Given the description of an element on the screen output the (x, y) to click on. 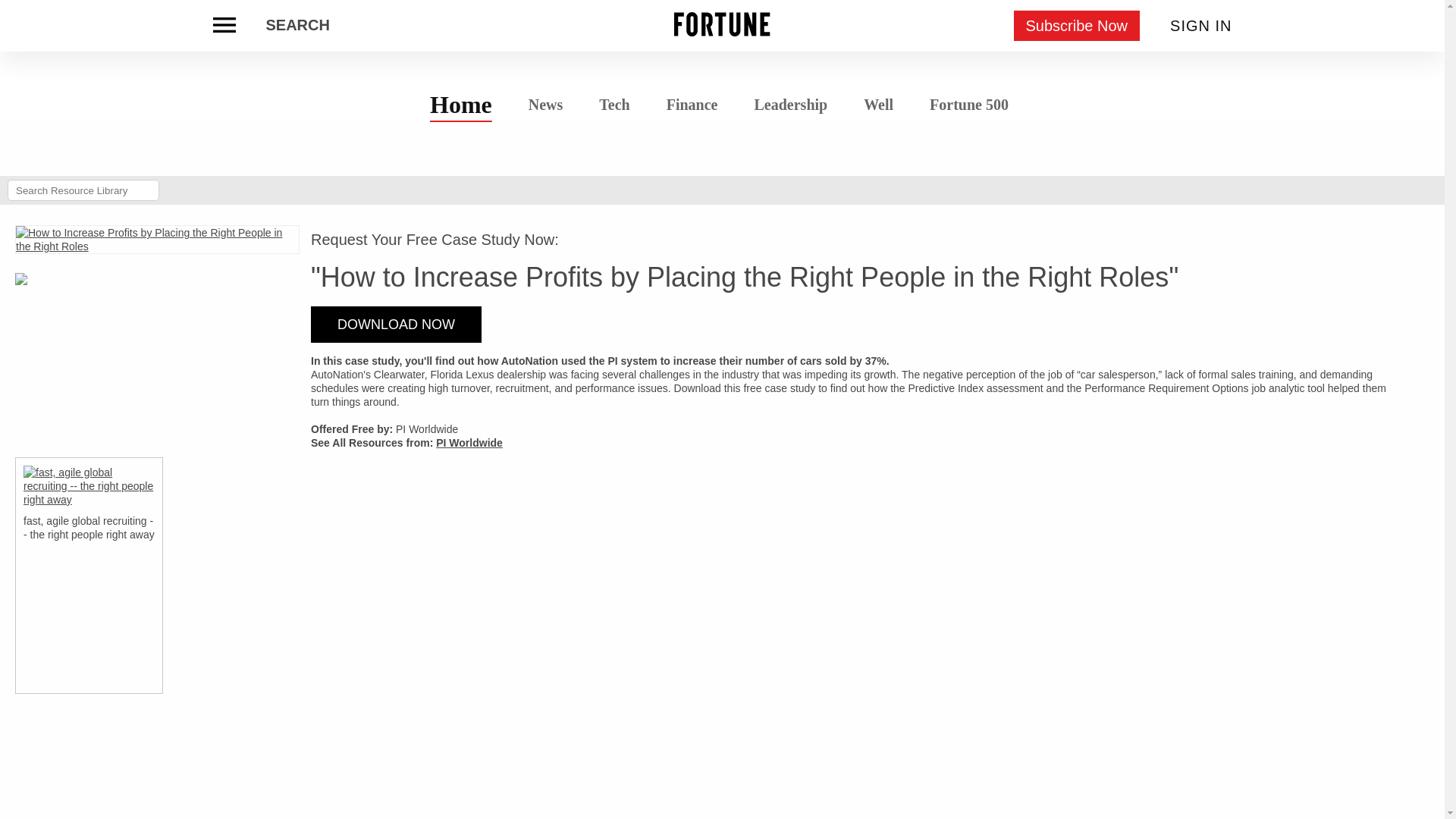
Well (878, 104)
Home (461, 103)
Leadership (790, 104)
Tech (613, 104)
SIGN IN (1200, 25)
News (545, 103)
Fortune 500 (968, 103)
Finance (691, 104)
Subscribe Now (1076, 25)
SEARCH (296, 25)
